Given the description of an element on the screen output the (x, y) to click on. 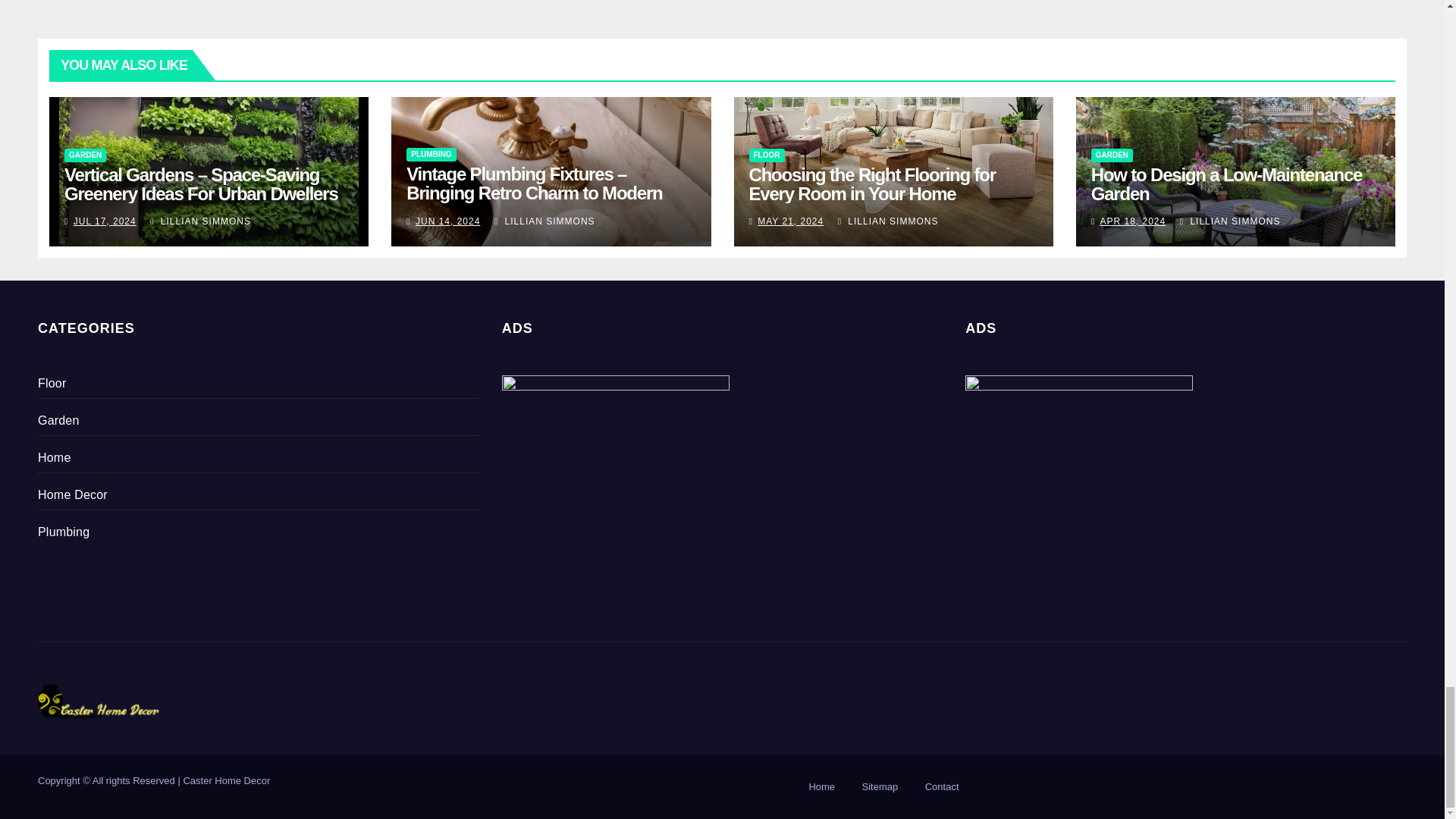
Permalink to: How to Design a Low-Maintenance Garden (1226, 183)
